Given the description of an element on the screen output the (x, y) to click on. 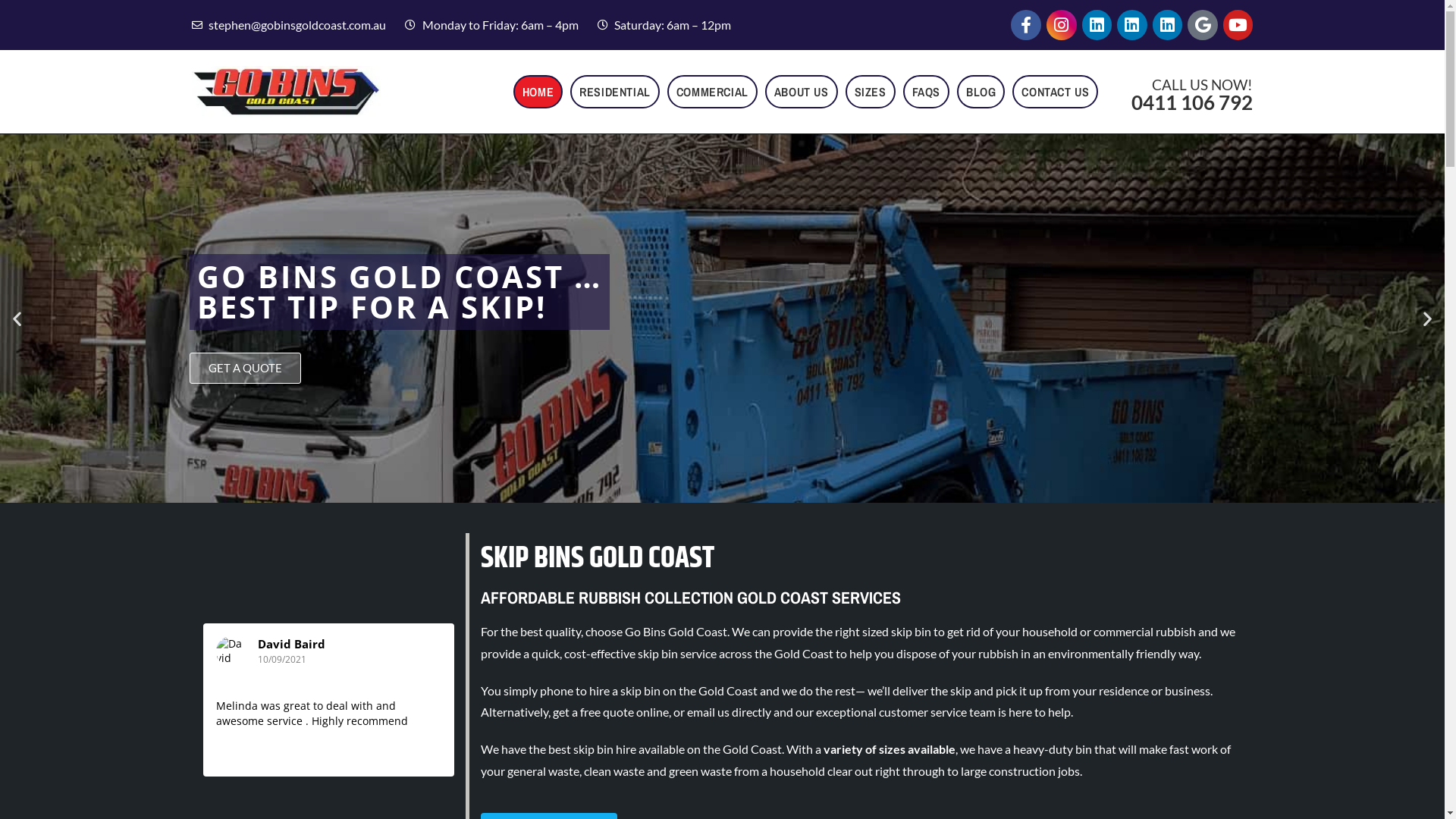
SIZES Element type: text (870, 91)
GET A QUOTE Element type: text (245, 366)
ABOUT US Element type: text (801, 91)
household Element type: text (1049, 631)
FAQS Element type: text (926, 91)
HOME Element type: text (537, 91)
BLOG Element type: text (980, 91)
business Element type: text (1187, 690)
CONTACT US Element type: text (1055, 91)
commercial Element type: text (1123, 631)
stephen@gobinsgoldcoast.com.au Element type: text (288, 25)
residence Element type: text (1123, 690)
variety of sizes available Element type: text (889, 748)
RESIDENTIAL Element type: text (614, 91)
0411 106 792 Element type: text (1191, 102)
COMMERCIAL Element type: text (712, 91)
